Given the description of an element on the screen output the (x, y) to click on. 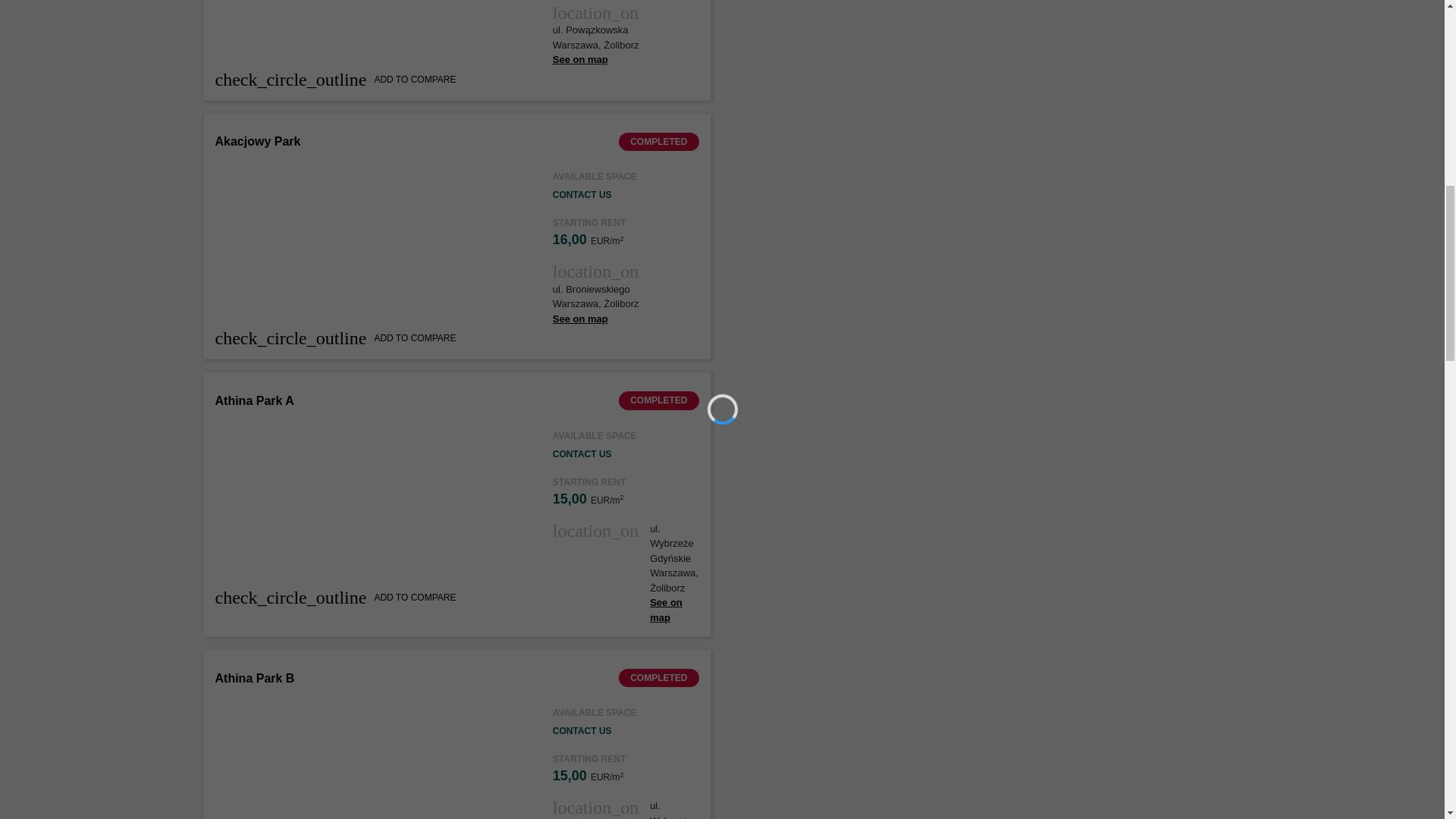
CONTACT US (582, 194)
See on map (580, 318)
Akacjowy Park (258, 141)
See on map (665, 610)
See on map (580, 59)
Athina Park A (254, 400)
CONTACT US (582, 730)
CONTACT US (582, 453)
Athina Park B (255, 677)
